Given the description of an element on the screen output the (x, y) to click on. 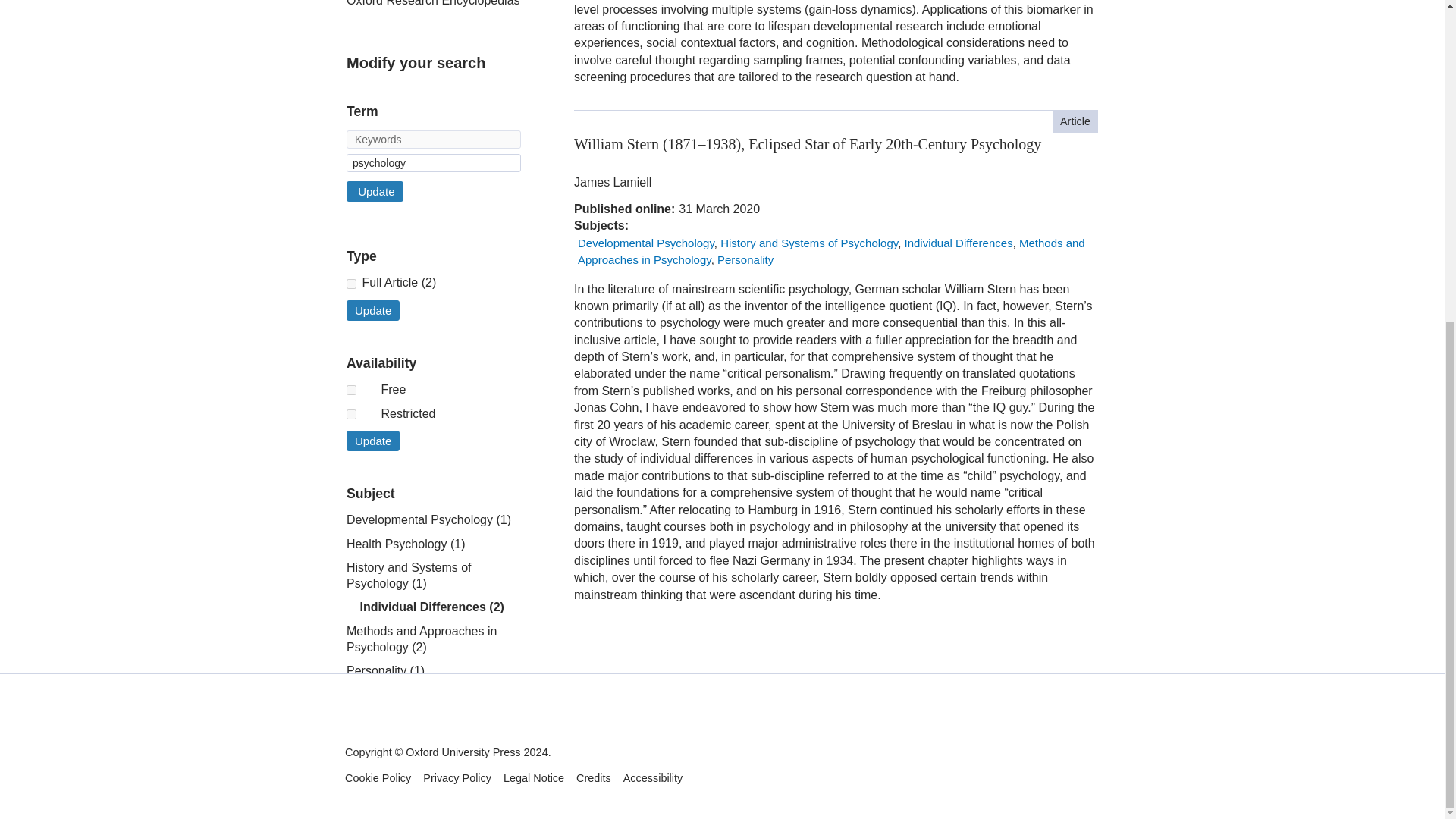
psychology (433, 162)
locked (351, 414)
 Update (374, 190)
free (351, 389)
Subject Reference (351, 284)
restricted access (586, 160)
